Given the description of an element on the screen output the (x, y) to click on. 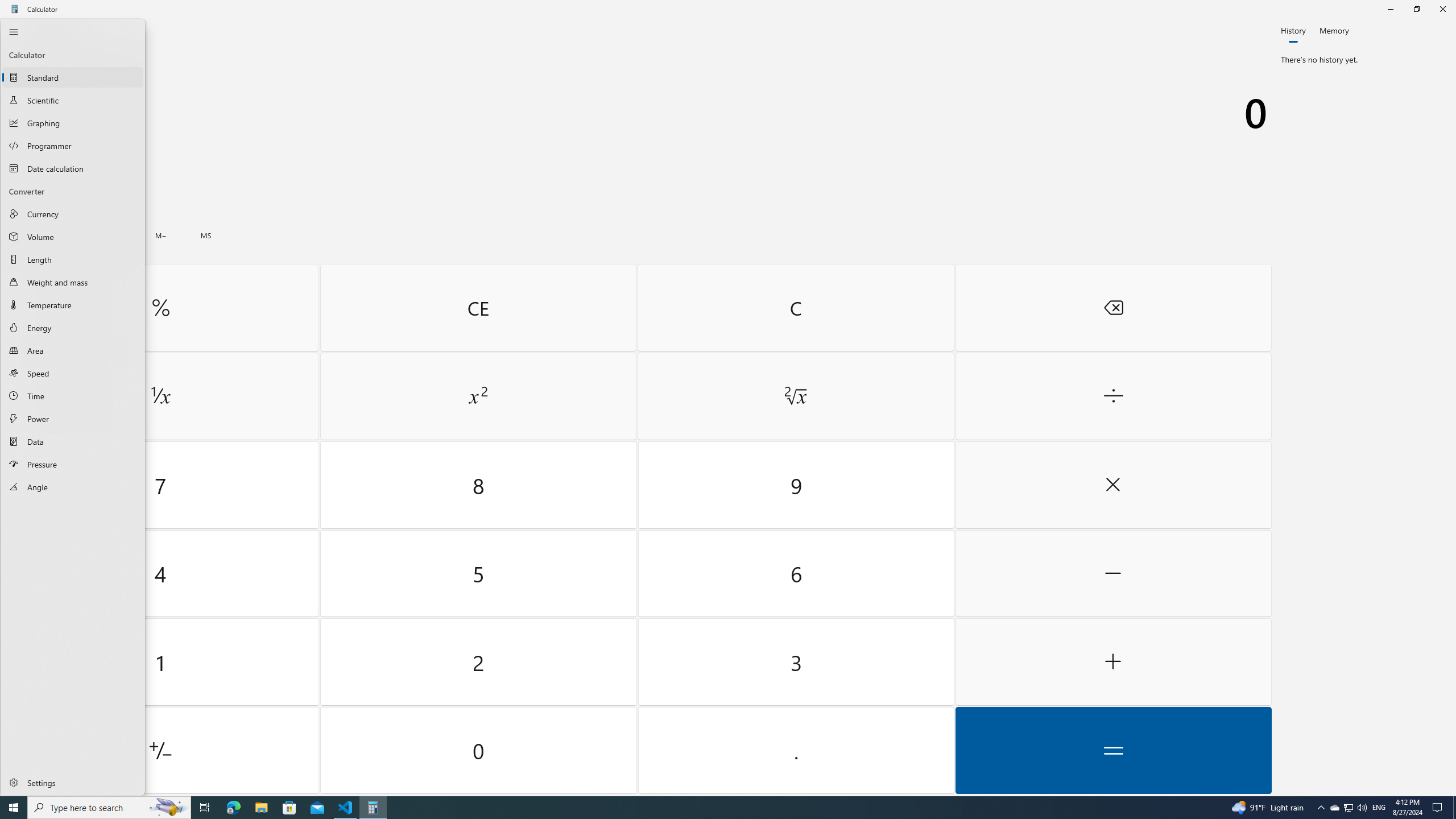
Temperature Converter (72, 304)
Memory add (115, 235)
Decimal separator (795, 749)
Square (478, 396)
Two (478, 661)
Clear all memory (24, 235)
Multiply by (1113, 485)
Close (728, 407)
Close Navigation (13, 31)
Clear (795, 307)
